Given the description of an element on the screen output the (x, y) to click on. 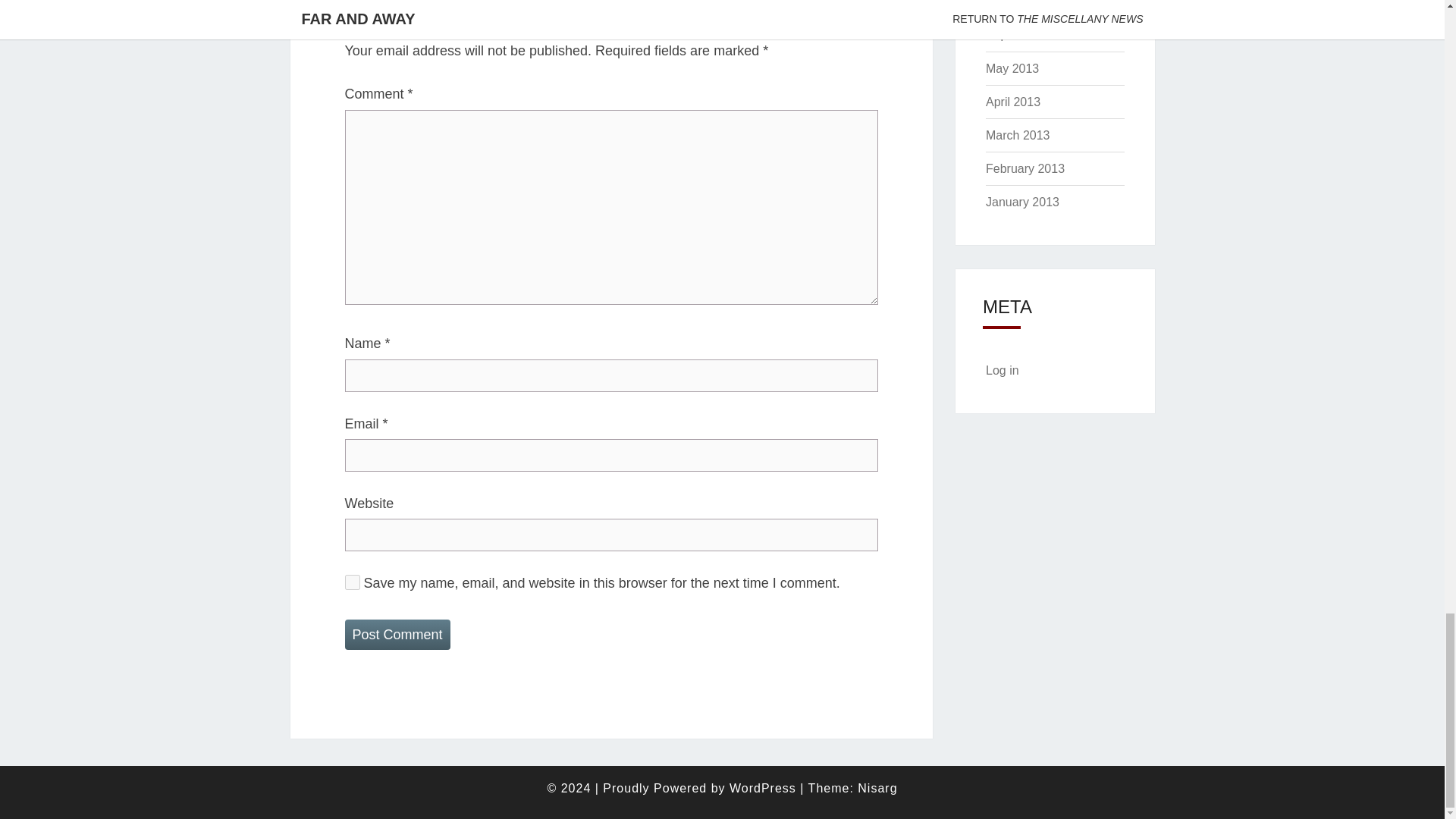
Post Comment (396, 634)
yes (351, 581)
Post Comment (396, 634)
